Given the description of an element on the screen output the (x, y) to click on. 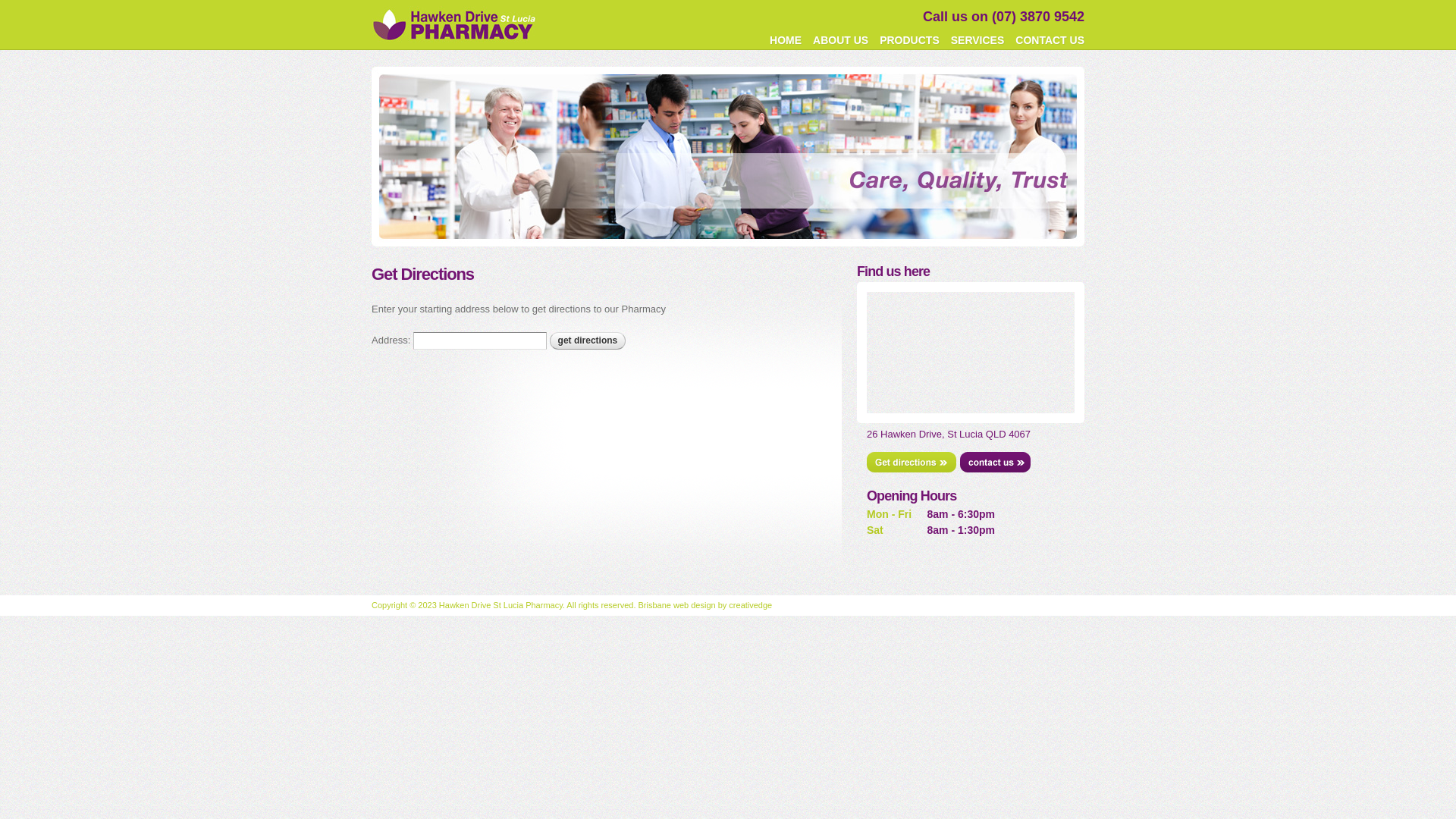
SERVICES Element type: text (977, 40)
Skip to main content Element type: text (700, 1)
ABOUT US Element type: text (840, 40)
PRODUCTS Element type: text (909, 40)
26 Hawken Drive, St Lucia QLD 4067 Element type: text (948, 433)
get directions Element type: text (587, 340)
Get directions Element type: text (911, 461)
Brisbane web design Element type: text (676, 604)
HOME Element type: text (785, 40)
CONTACT US Element type: text (1049, 40)
Contact us Element type: text (995, 461)
